Given the description of an element on the screen output the (x, y) to click on. 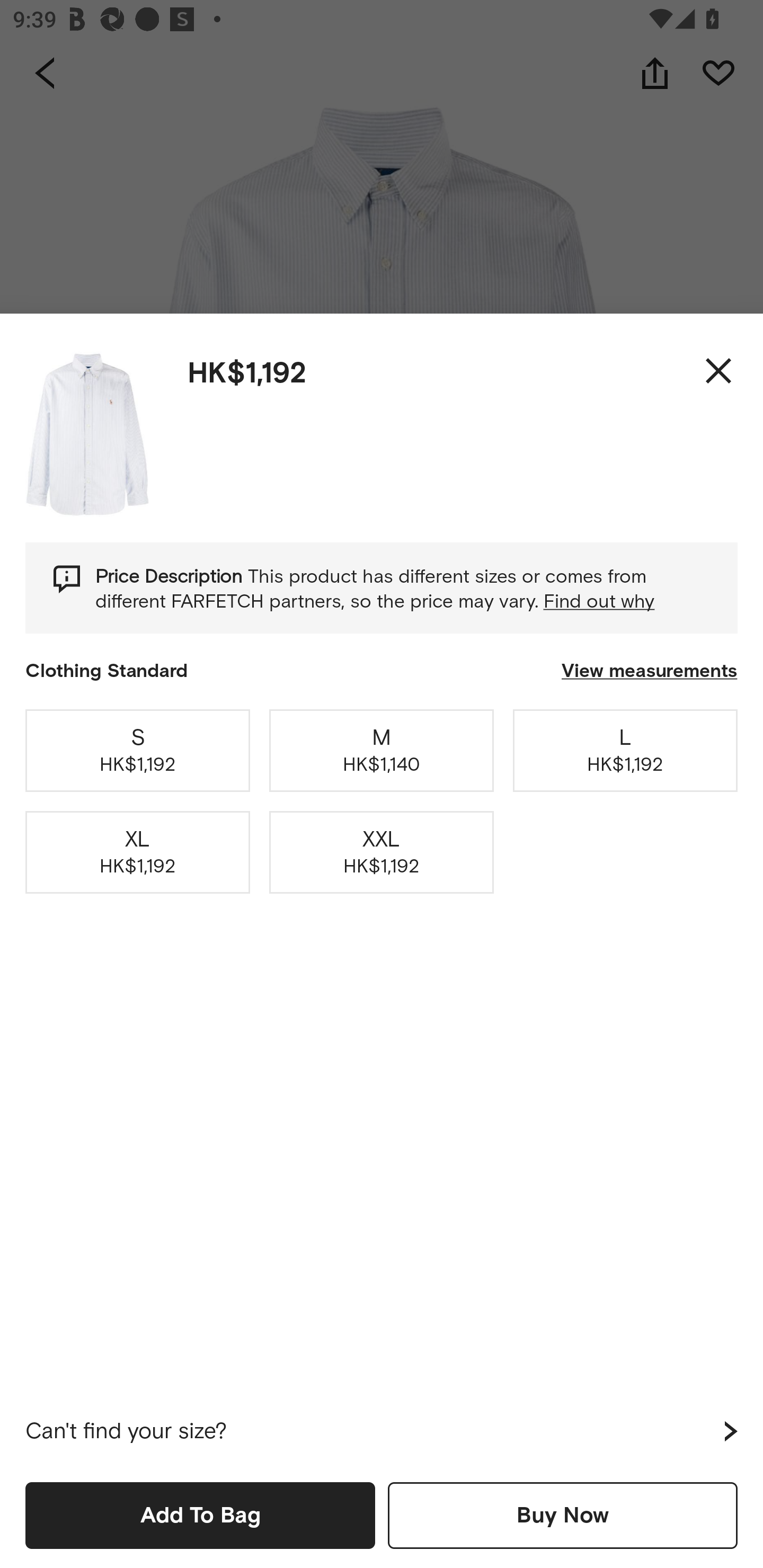
S HK$1,192 (137, 749)
M HK$1,140 (381, 749)
L HK$1,192 (624, 749)
XL HK$1,192 (137, 851)
XXL HK$1,192 (381, 851)
Can't find your size? (381, 1431)
Add To Bag (200, 1515)
Buy Now (562, 1515)
